Given the description of an element on the screen output the (x, y) to click on. 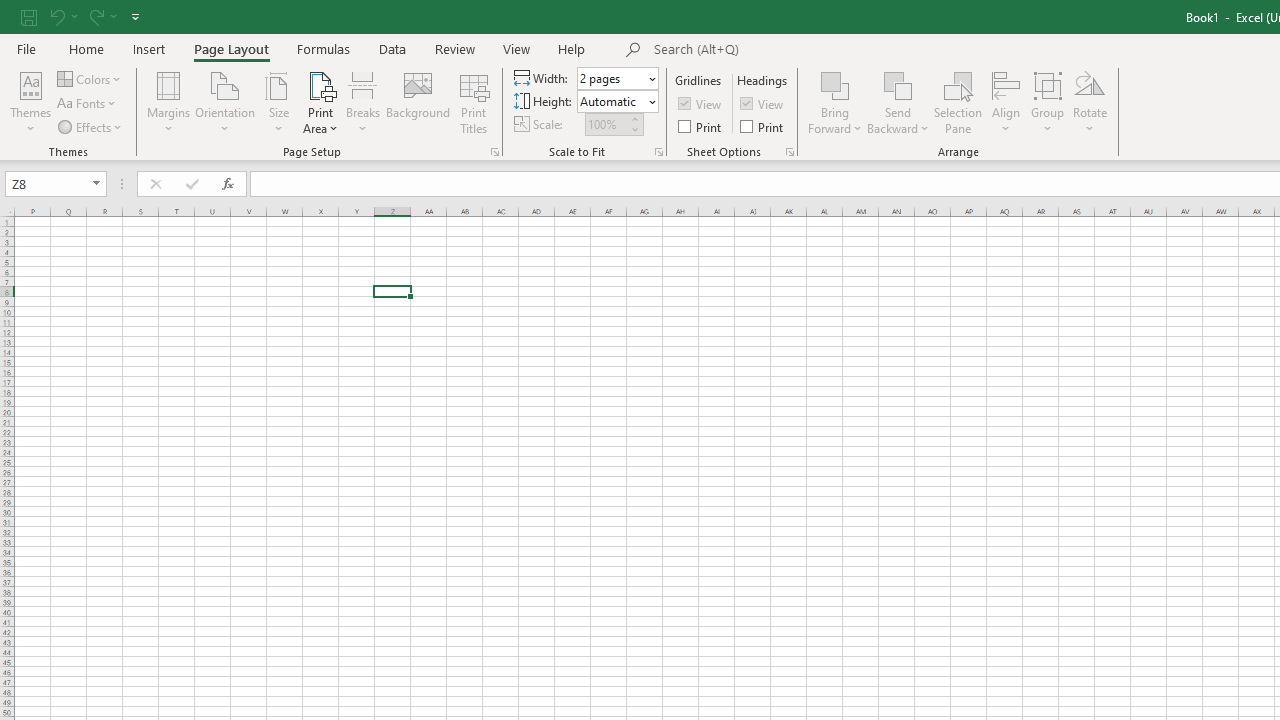
Page Setup (658, 151)
Height (611, 101)
Fonts (87, 103)
